Given the description of an element on the screen output the (x, y) to click on. 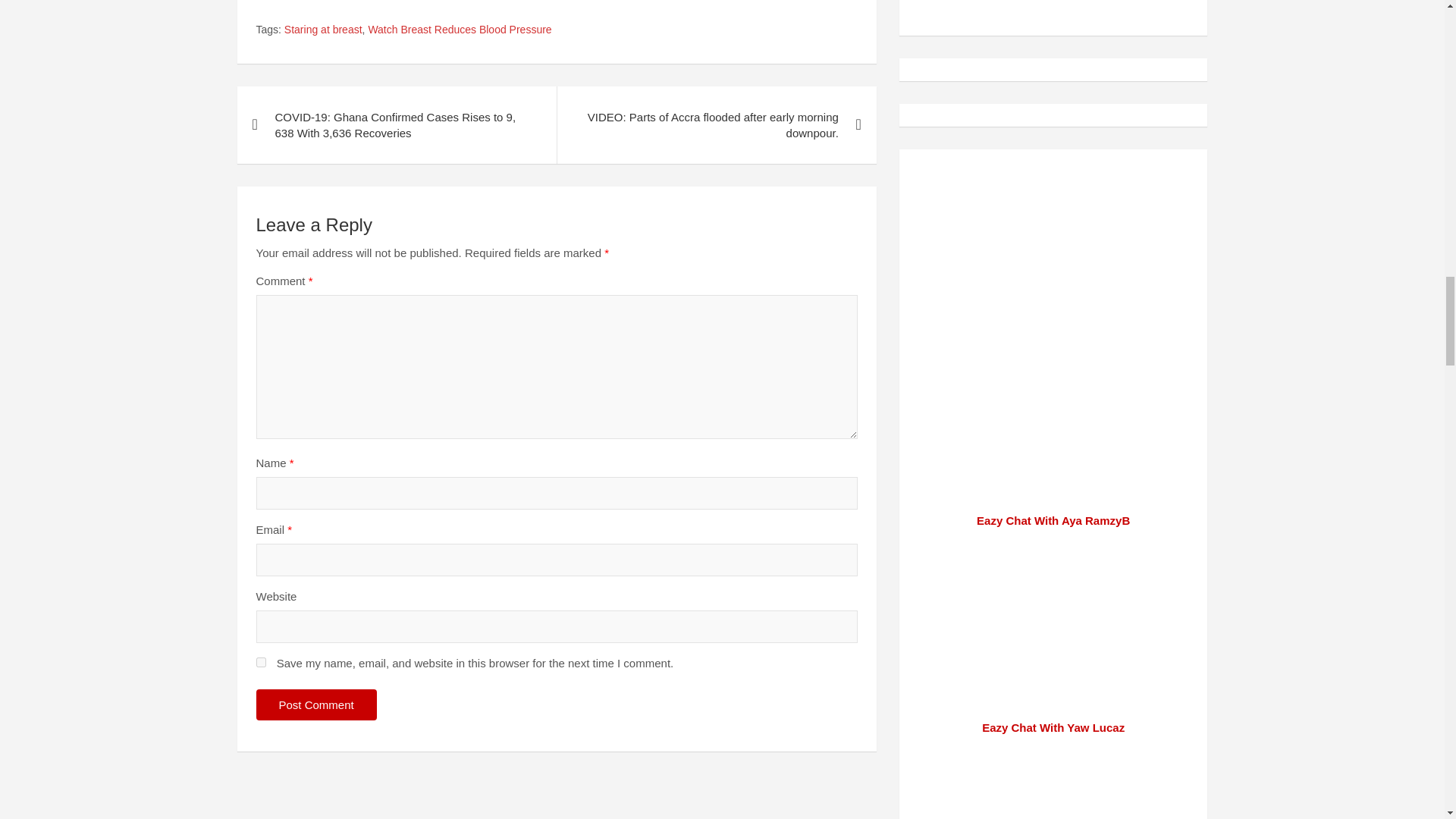
Post Comment (316, 704)
yes (261, 662)
